Given the description of an element on the screen output the (x, y) to click on. 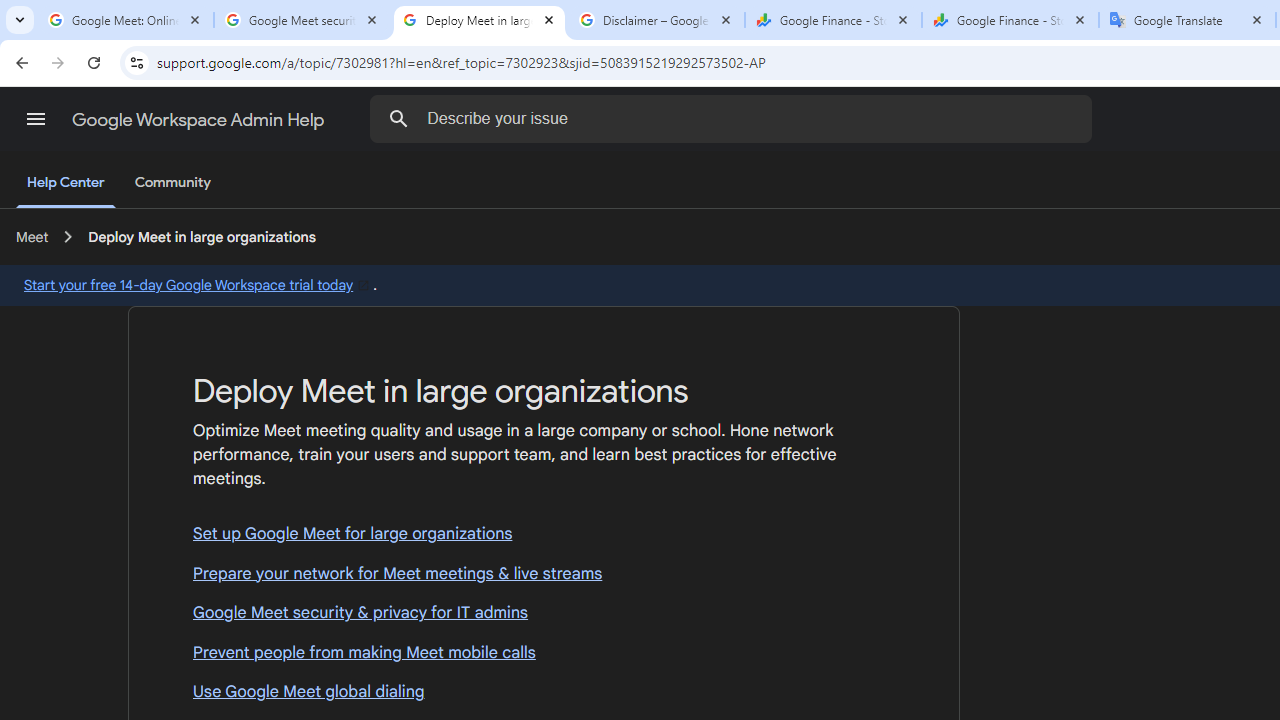
Google Workspace Admin Help (199, 119)
Meet  (31, 237)
Prepare your network for Meet meetings & live streams (543, 574)
Deploy Meet in large organizations (202, 237)
Set up Google Meet for large organizations (543, 534)
Main menu (35, 119)
Use Google Meet global dialing (543, 692)
